Given the description of an element on the screen output the (x, y) to click on. 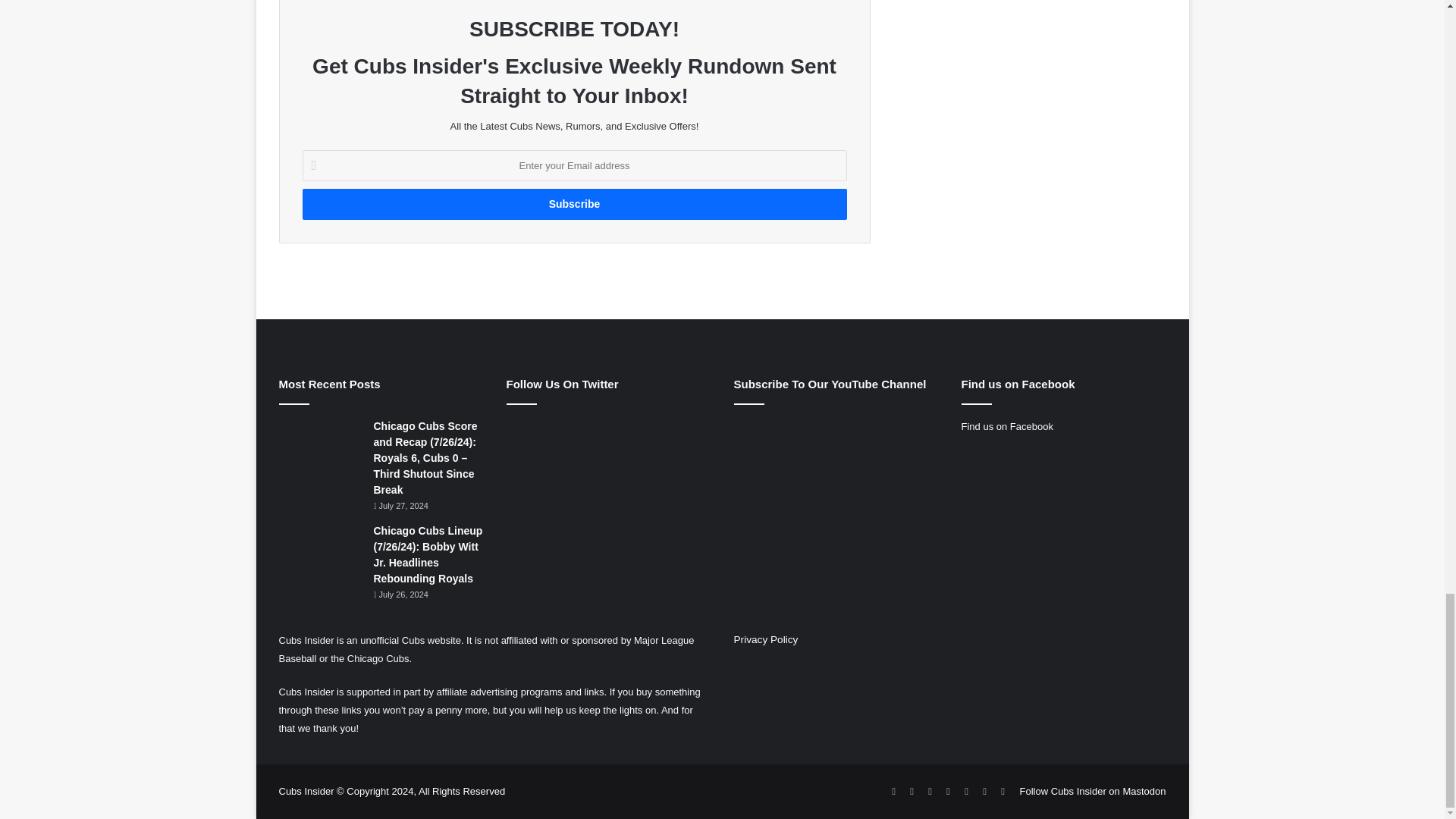
Subscribe (573, 204)
